Given the description of an element on the screen output the (x, y) to click on. 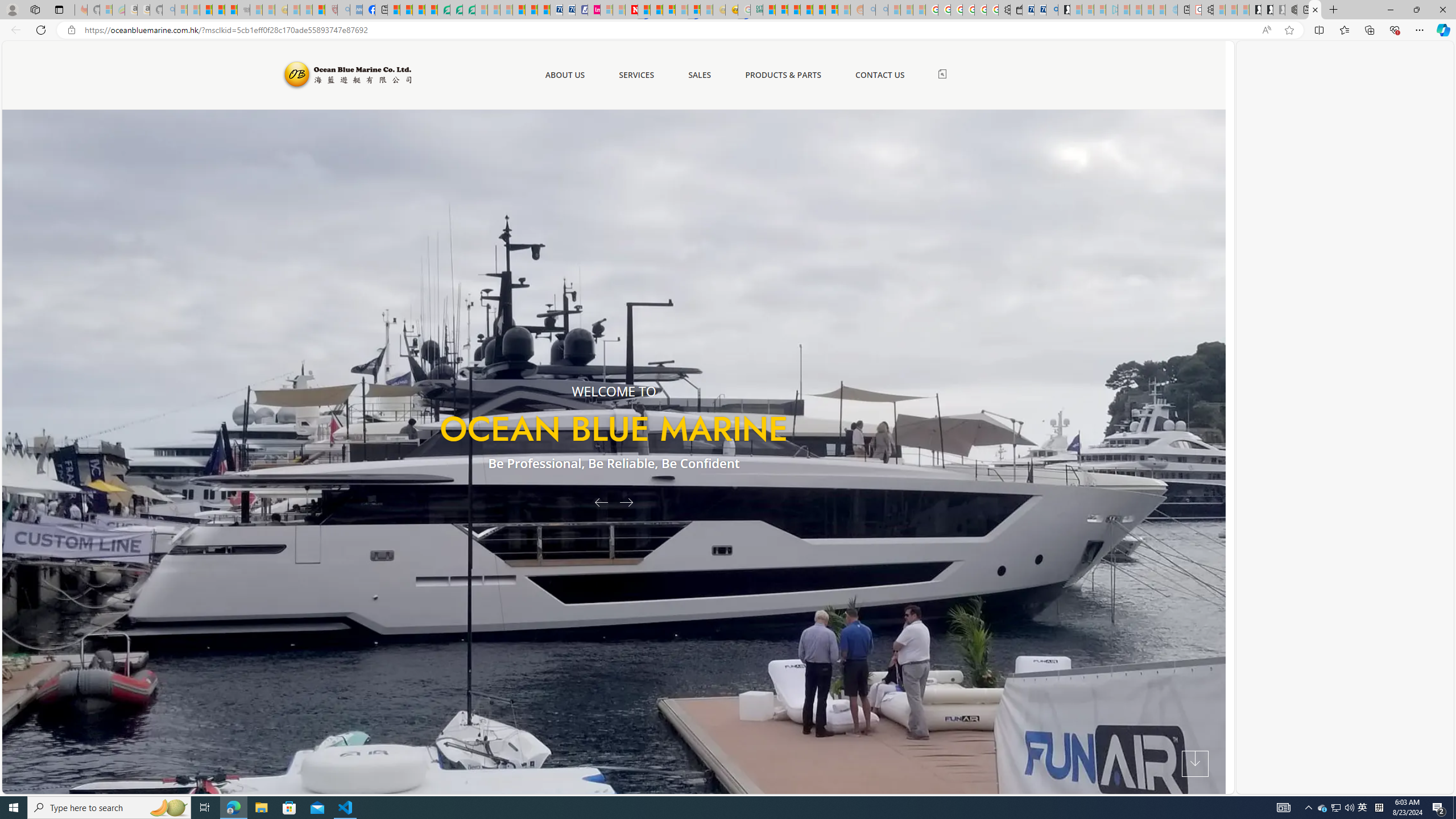
SERVICES (636, 75)
Previous Slide (596, 501)
Microsoft Word - consumer-privacy address update 2.2021 (468, 9)
Ocean Blue Marine (345, 74)
